Given the description of an element on the screen output the (x, y) to click on. 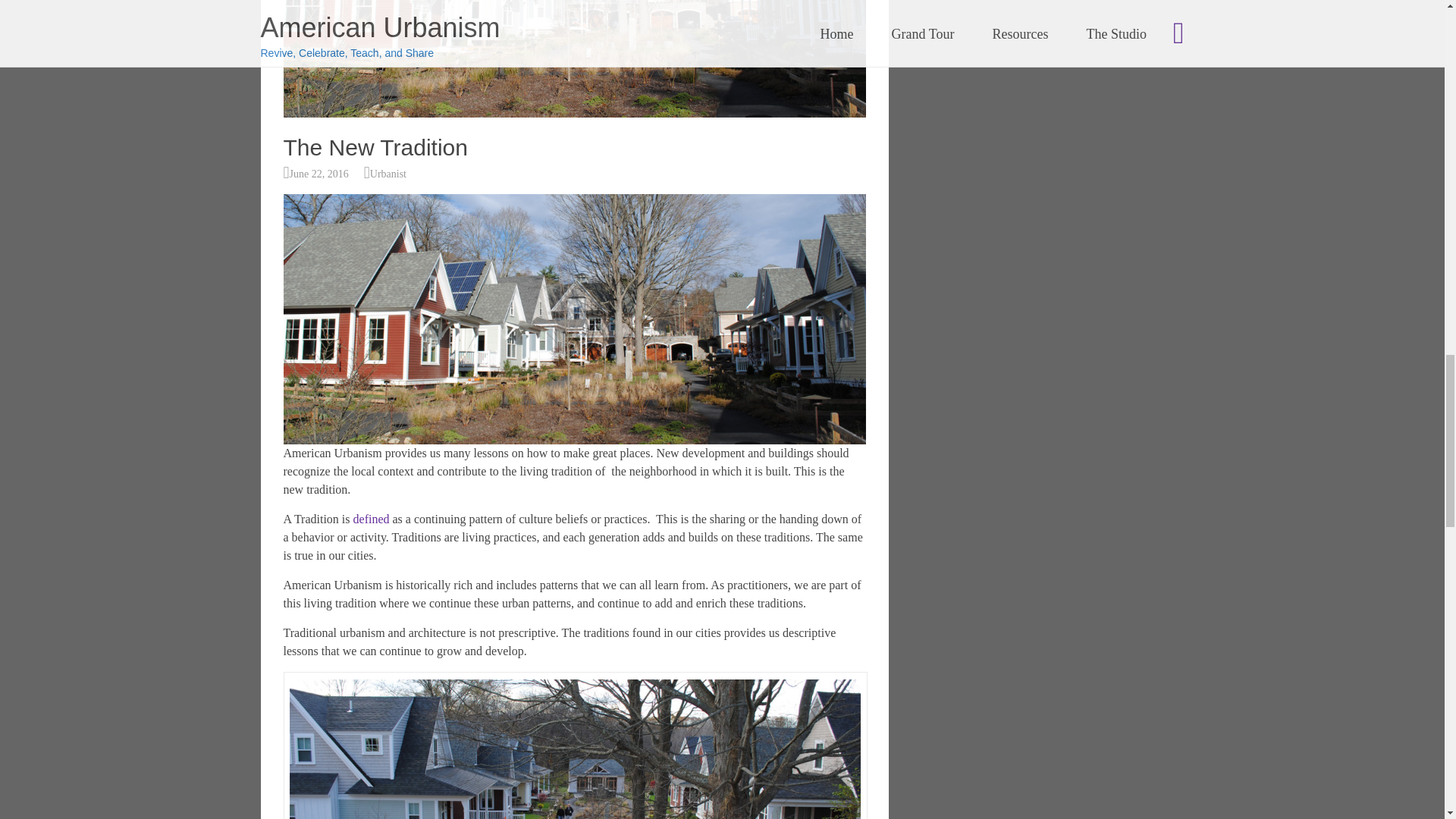
The New Tradition (574, 113)
June 22, 2016 (319, 173)
The New Tradition (574, 58)
Urbanist (387, 173)
The New Tradition (375, 147)
defined (371, 518)
